Given the description of an element on the screen output the (x, y) to click on. 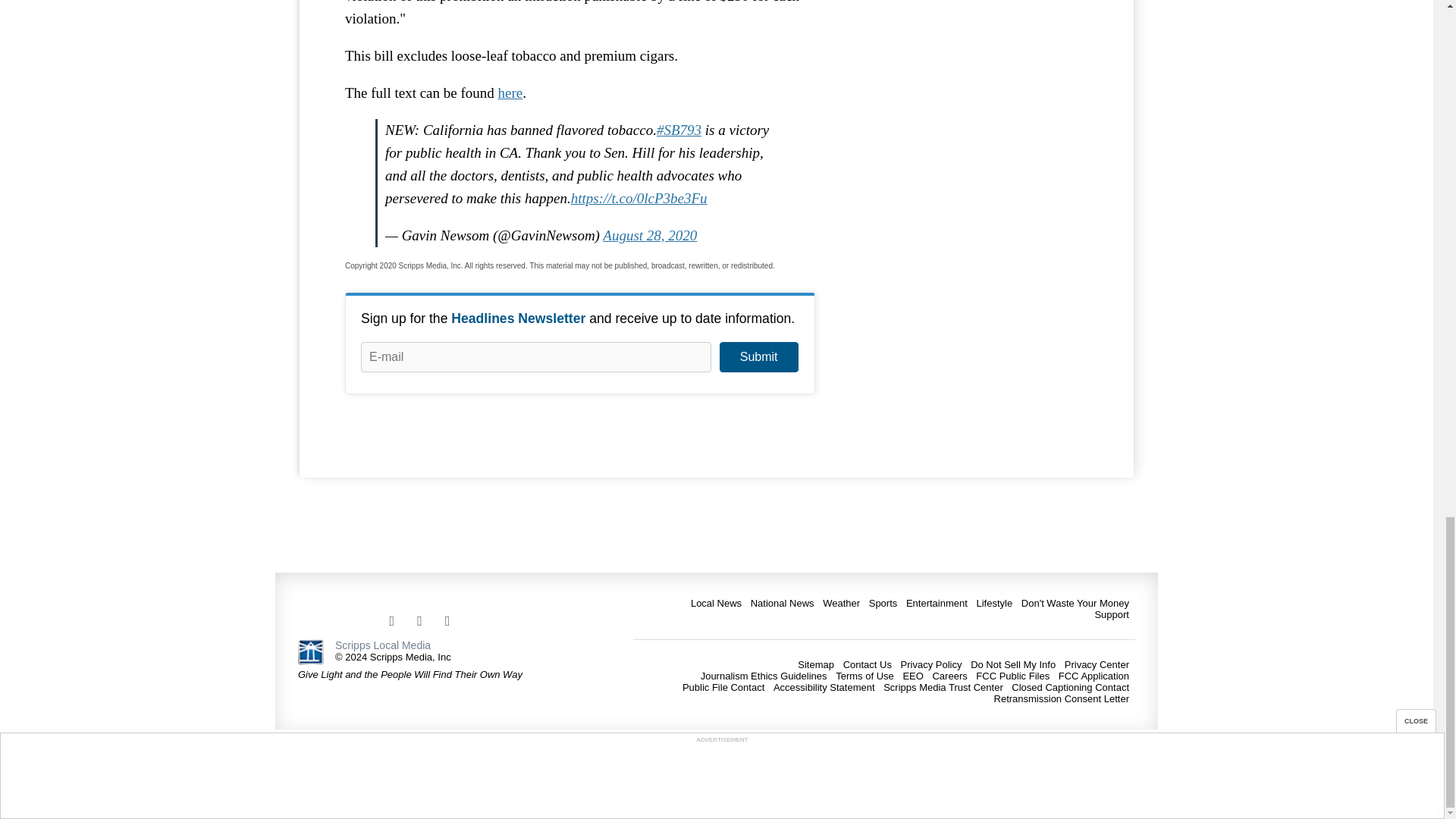
Submit (758, 357)
